Given the description of an element on the screen output the (x, y) to click on. 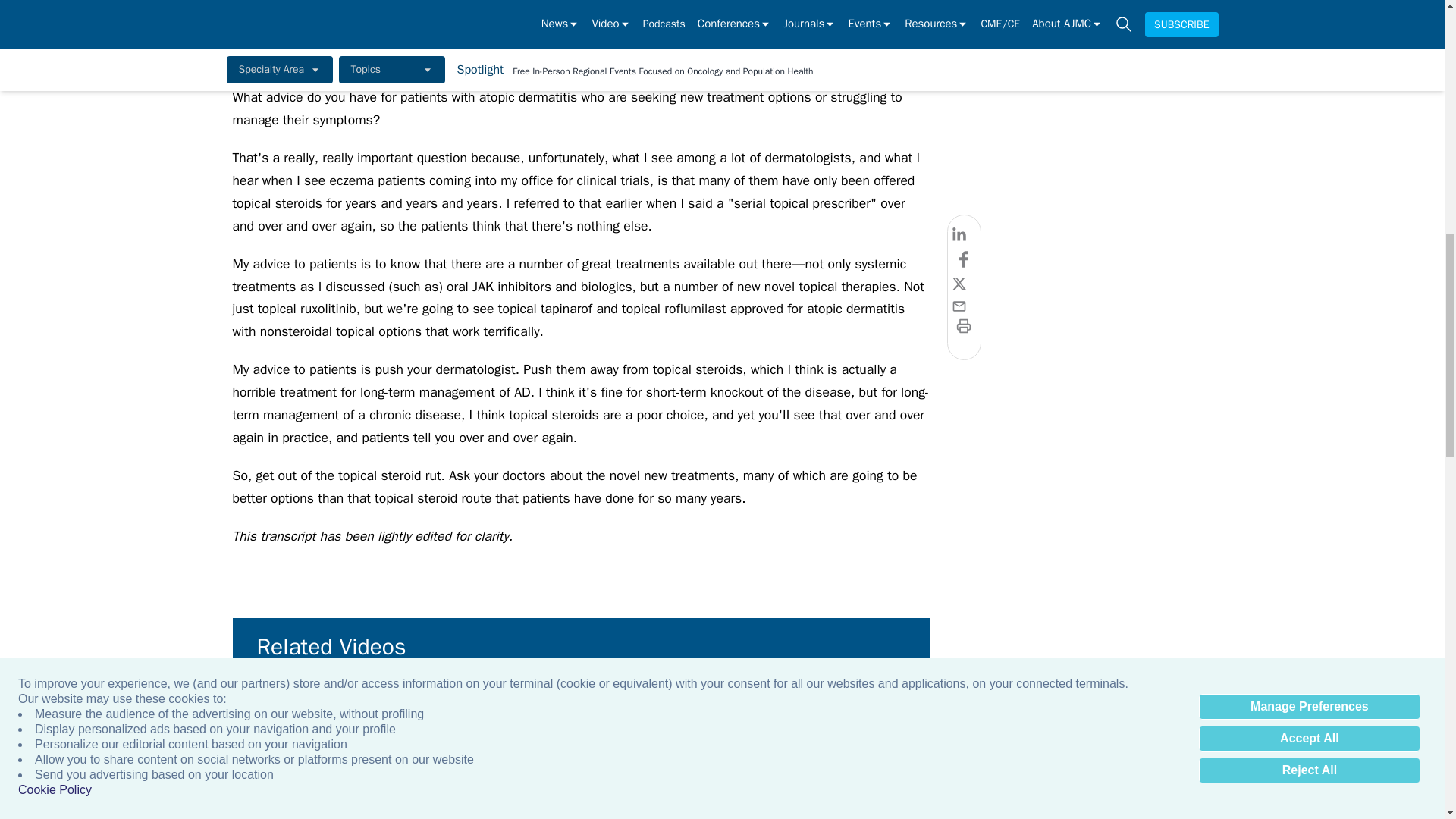
Mina Massaro-Giordano, MD (999, 719)
Robert Kushner, MD, MS (507, 719)
Tiara Green, MSEd (1326, 719)
